Given the description of an element on the screen output the (x, y) to click on. 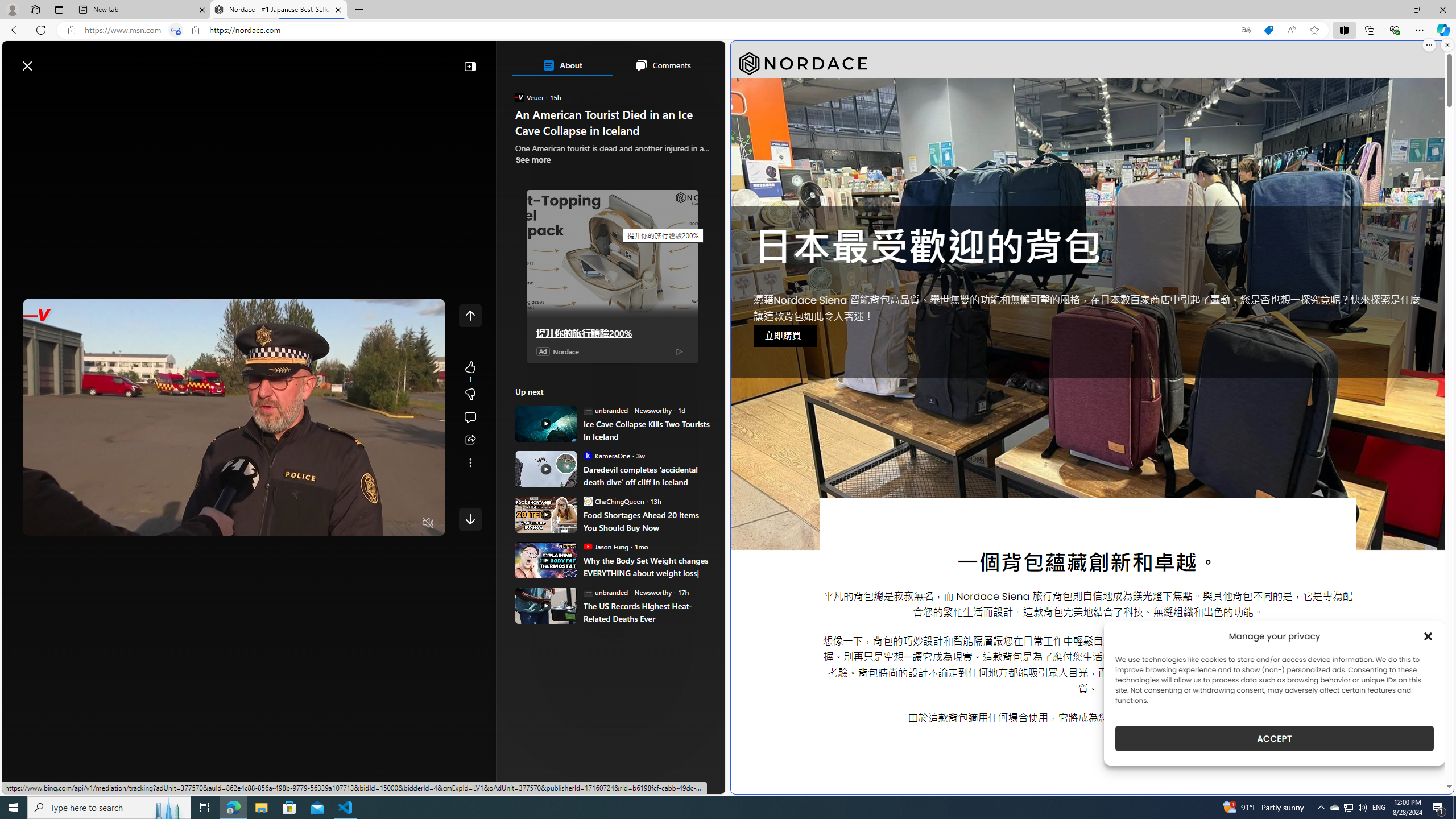
Tabs in split screen (175, 29)
This site has coupons! Shopping in Microsoft Edge (1268, 29)
Open navigation menu (16, 92)
Tab actions menu (58, 9)
Minimize (1390, 9)
View site information (195, 29)
See more (533, 159)
Nordace (566, 351)
Personal Profile (12, 9)
Skip to footer (46, 59)
More options. (1428, 45)
